Given the description of an element on the screen output the (x, y) to click on. 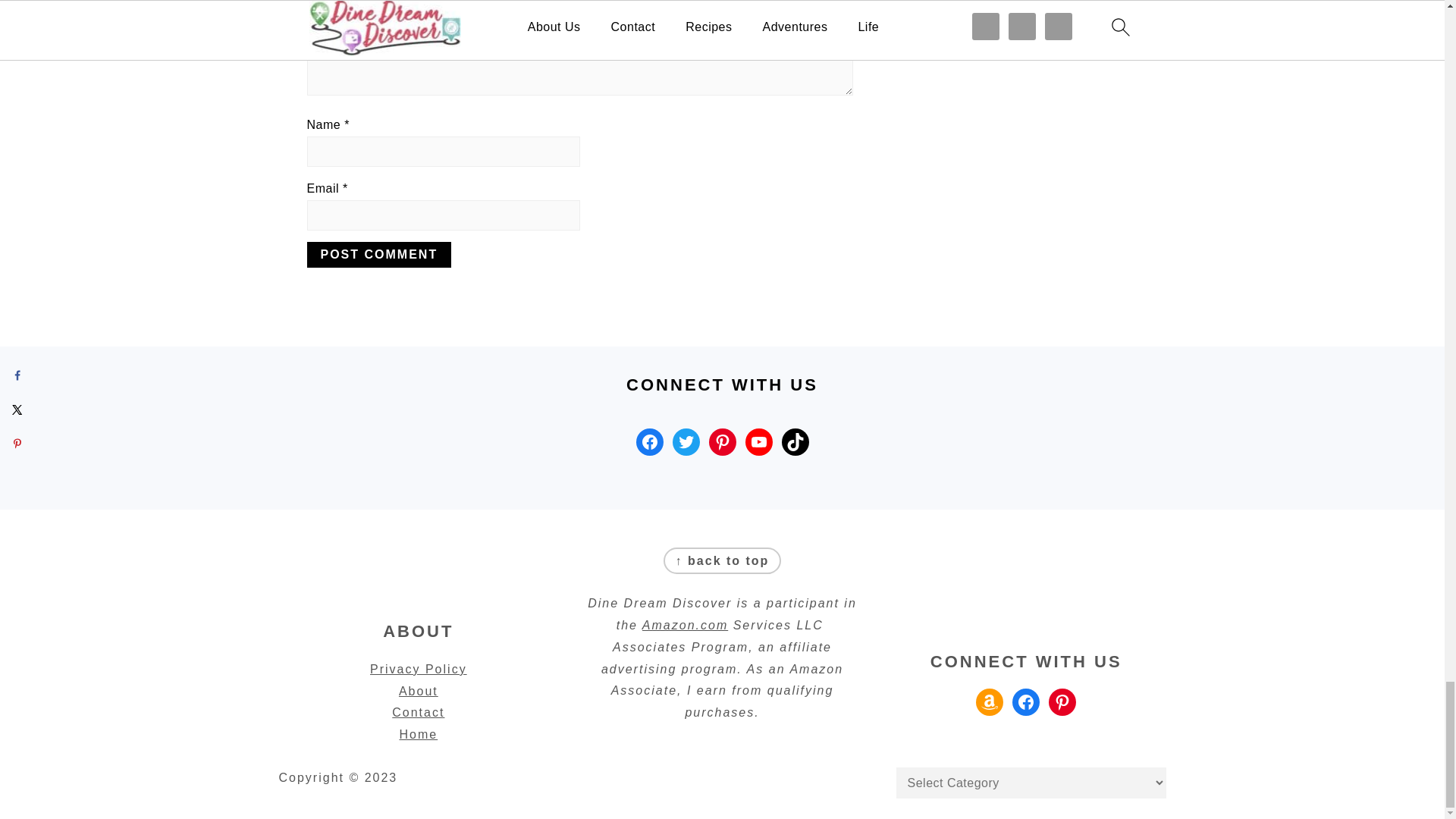
Post Comment (378, 254)
